Given the description of an element on the screen output the (x, y) to click on. 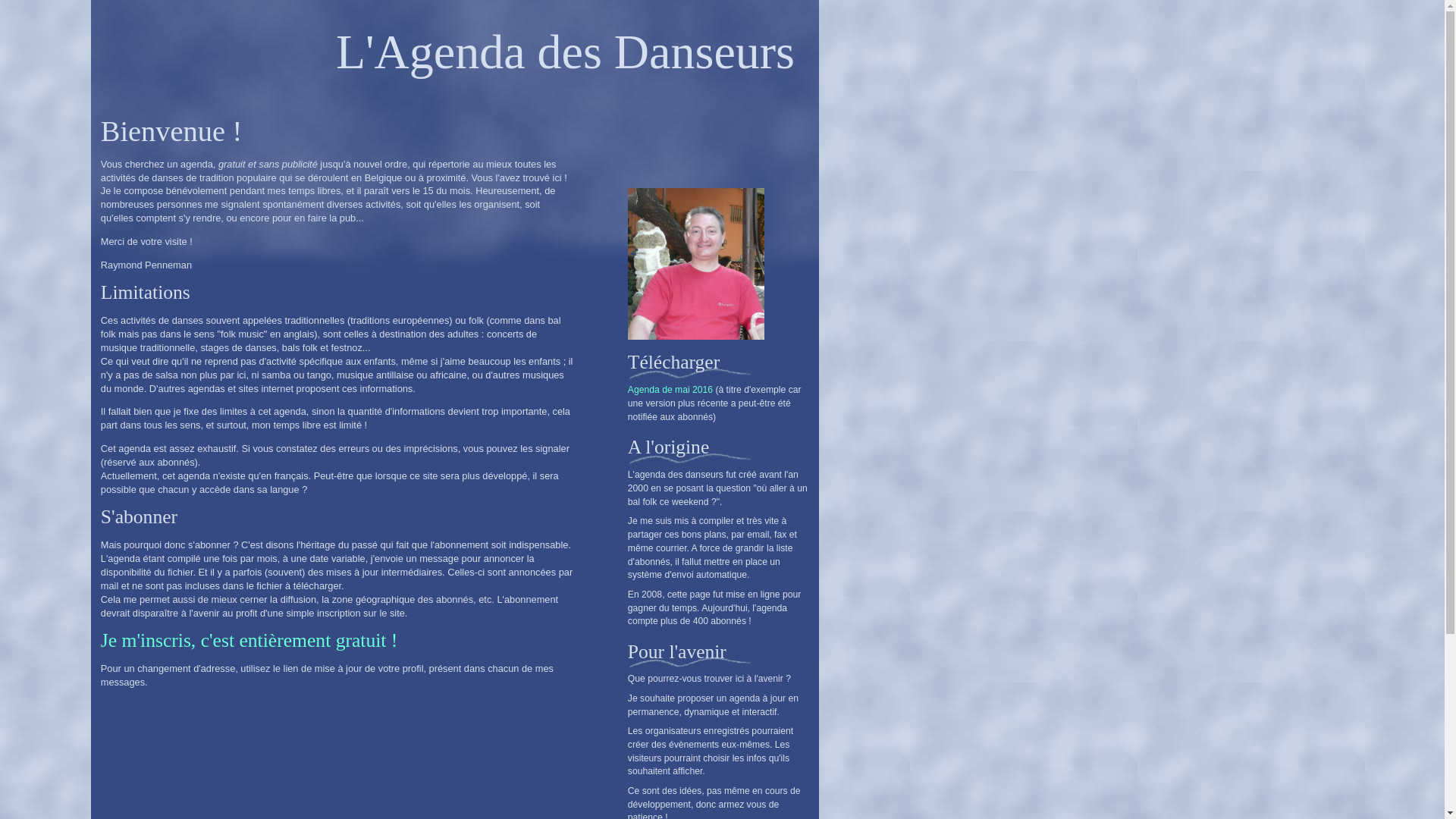
Agenda de mai 2016 Element type: text (669, 389)
